Given the description of an element on the screen output the (x, y) to click on. 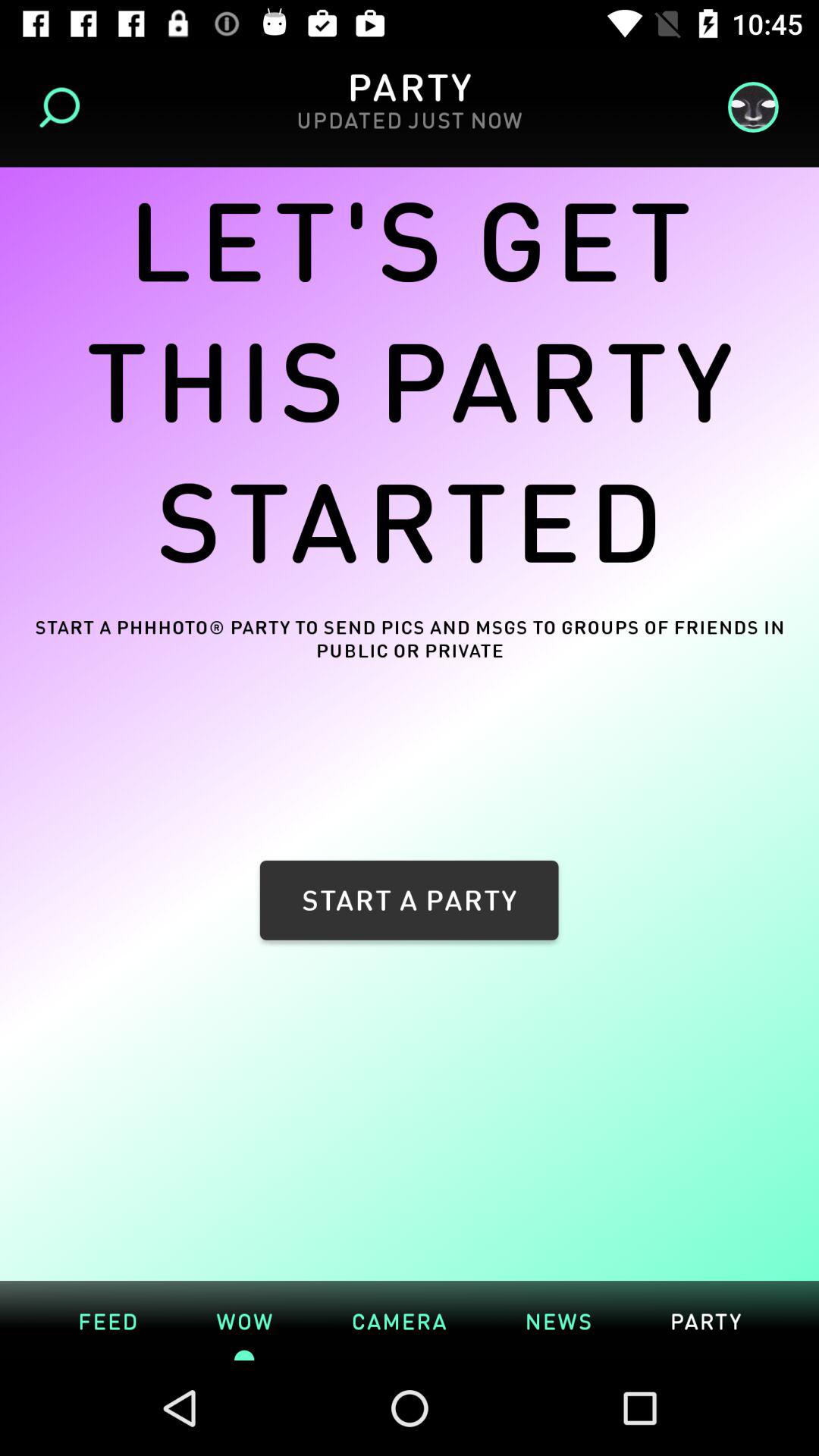
launch the item above let s get icon (408, 129)
